Given the description of an element on the screen output the (x, y) to click on. 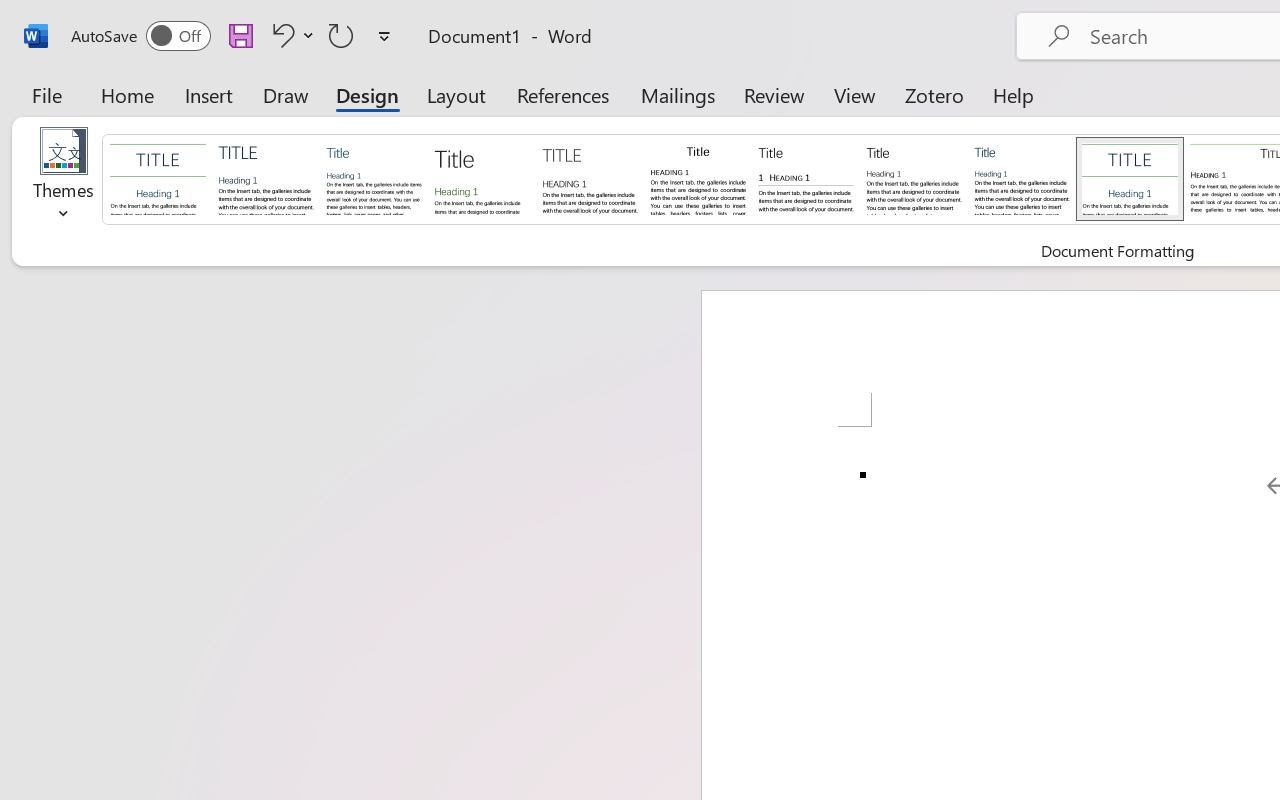
Basic (Simple) (373, 178)
Basic (Elegant) (266, 178)
Undo Apply Quick Style Set (290, 35)
Themes (63, 179)
Black & White (Classic) (697, 178)
